Given the description of an element on the screen output the (x, y) to click on. 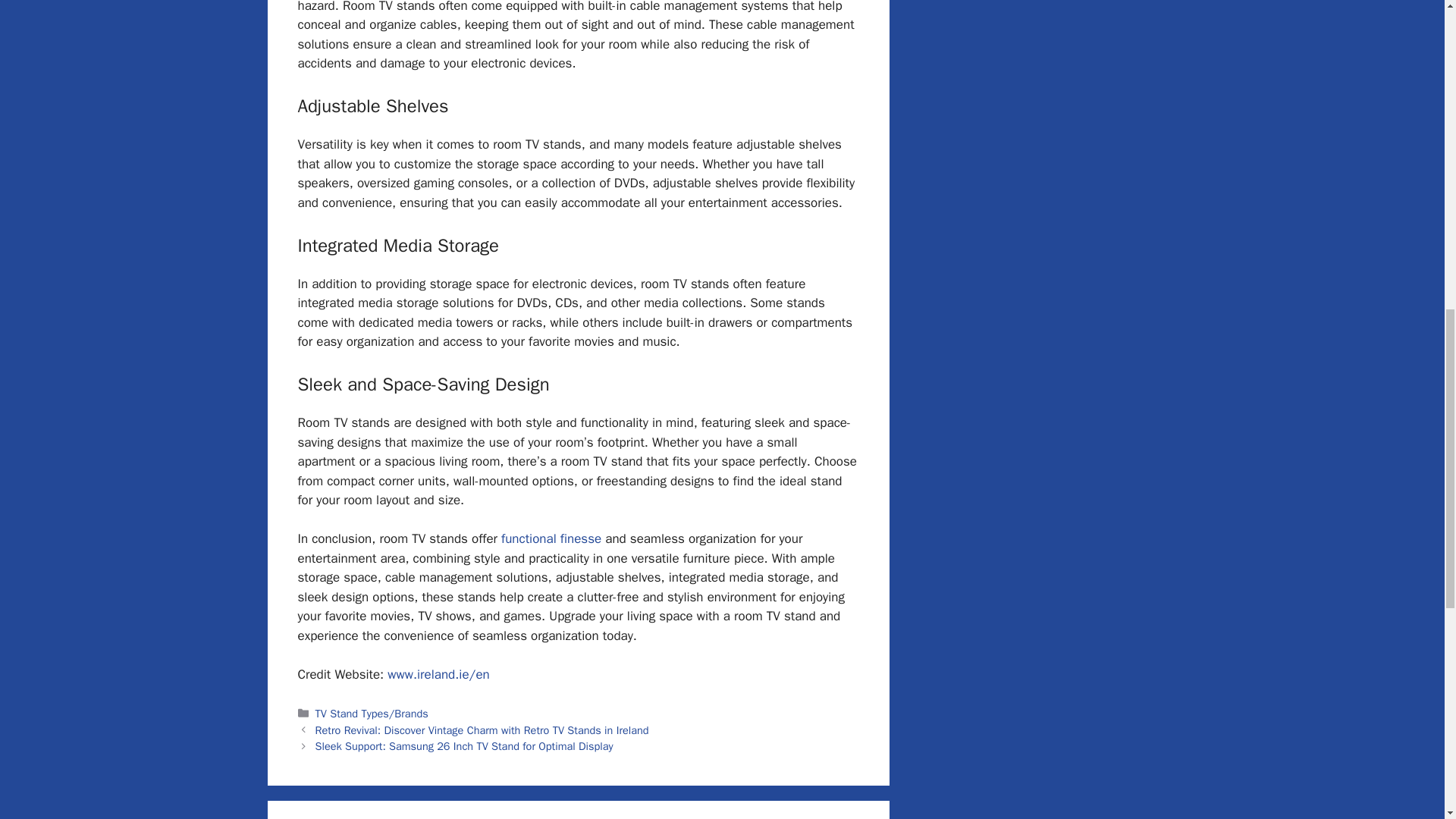
functional finesse (550, 538)
Sleek Support: Samsung 26 Inch TV Stand for Optimal Display (463, 745)
